Given the description of an element on the screen output the (x, y) to click on. 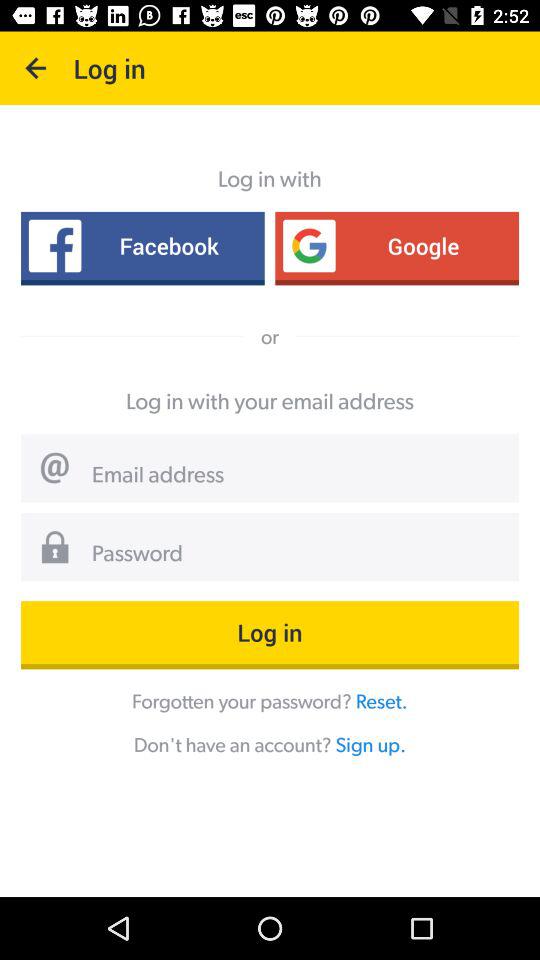
press the icon to the right of don t have item (370, 744)
